Given the description of an element on the screen output the (x, y) to click on. 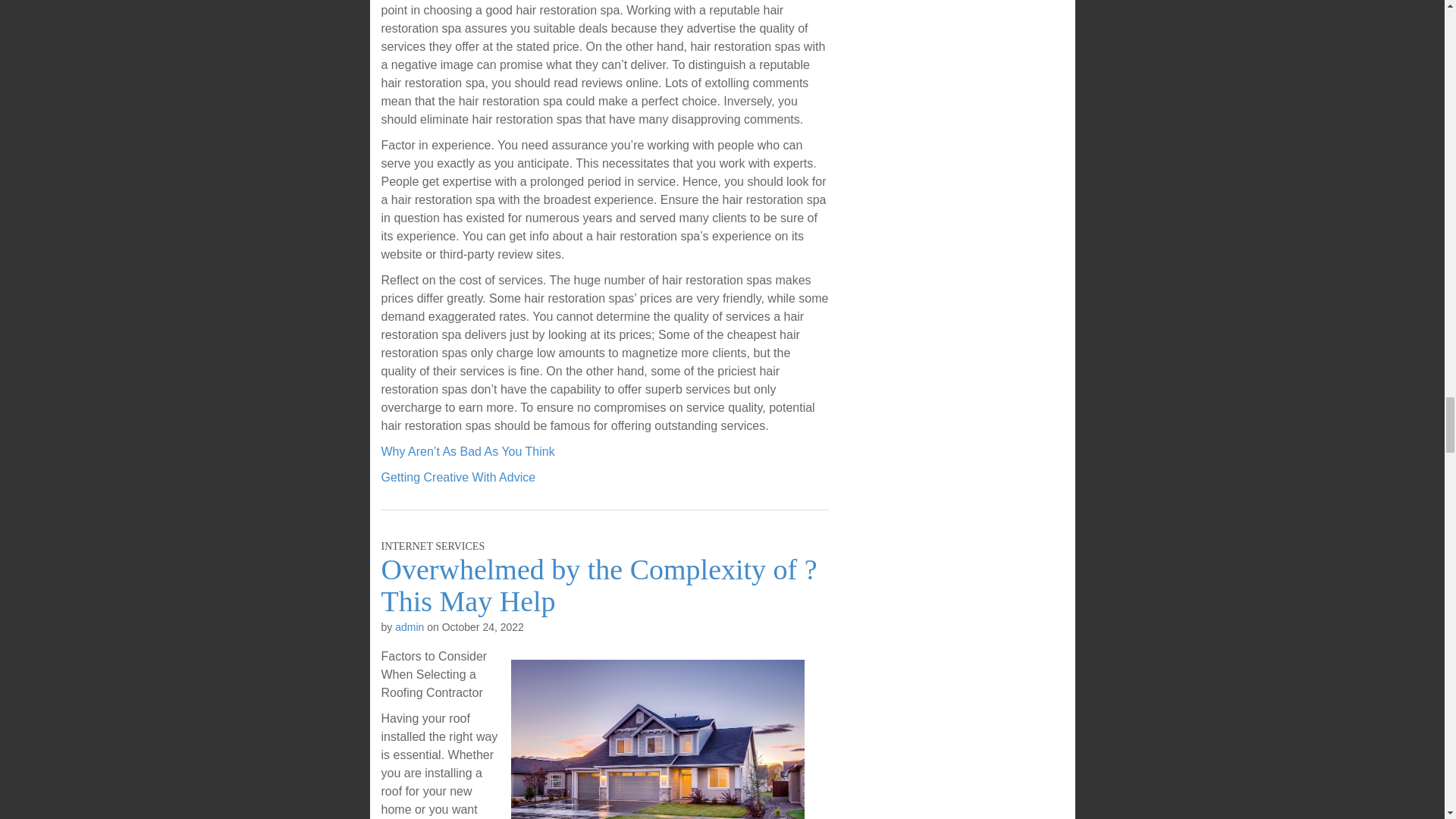
Getting Creative With Advice (457, 477)
Posts by admin (408, 626)
INTERNET SERVICES (432, 546)
